Given the description of an element on the screen output the (x, y) to click on. 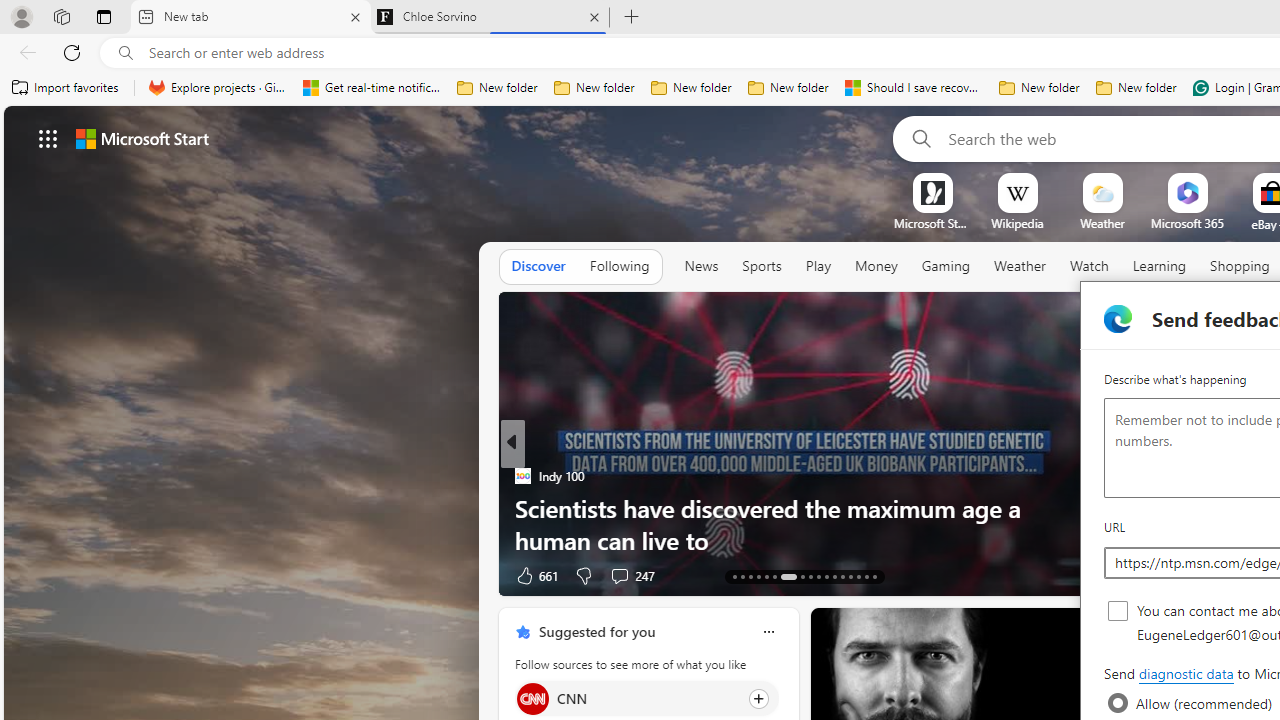
Microsoft start (142, 138)
Weather (1019, 267)
Money (875, 265)
To get missing image descriptions, open the context menu. (932, 192)
AutomationID: tab-40 (857, 576)
Wikipedia (1017, 223)
AutomationID: tab-41 (865, 576)
View comments 247 Comment (632, 574)
Search icon (125, 53)
AutomationID: tab-18 (774, 576)
New folder (1136, 88)
Gaming (945, 267)
